Given the description of an element on the screen output the (x, y) to click on. 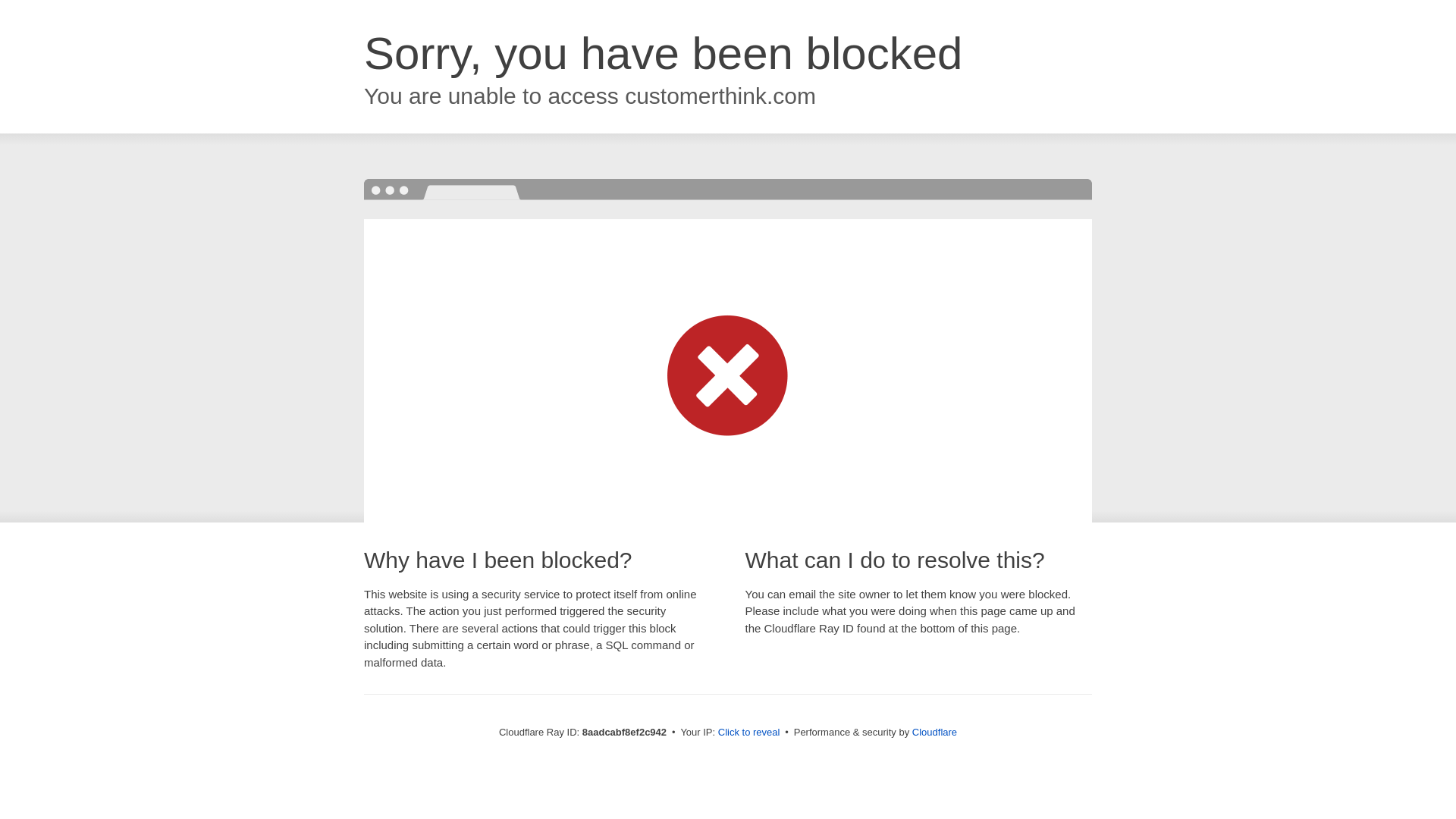
Cloudflare (934, 731)
Click to reveal (748, 732)
